Given the description of an element on the screen output the (x, y) to click on. 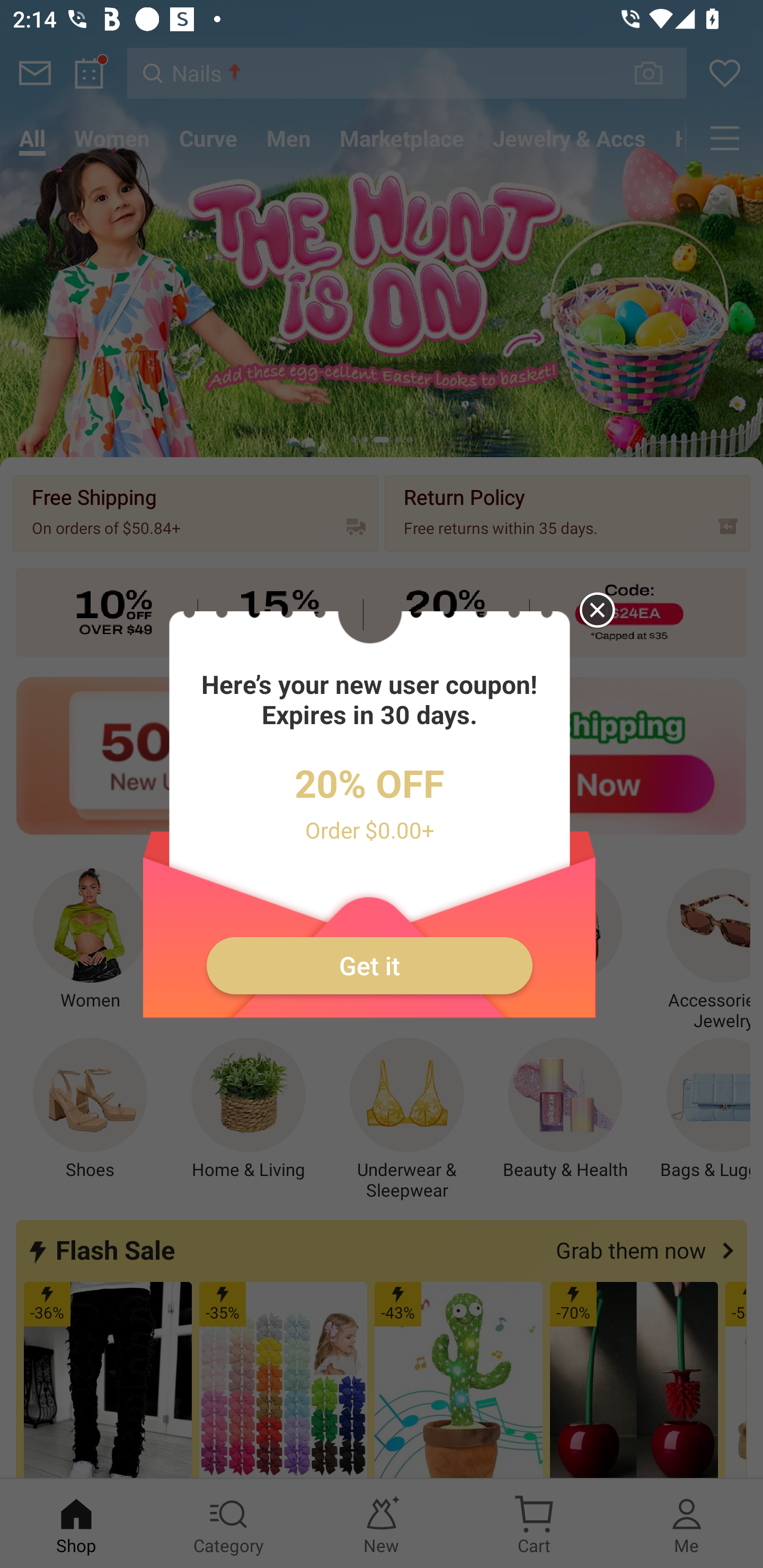
Close (587, 619)
Get it (369, 965)
